Given the description of an element on the screen output the (x, y) to click on. 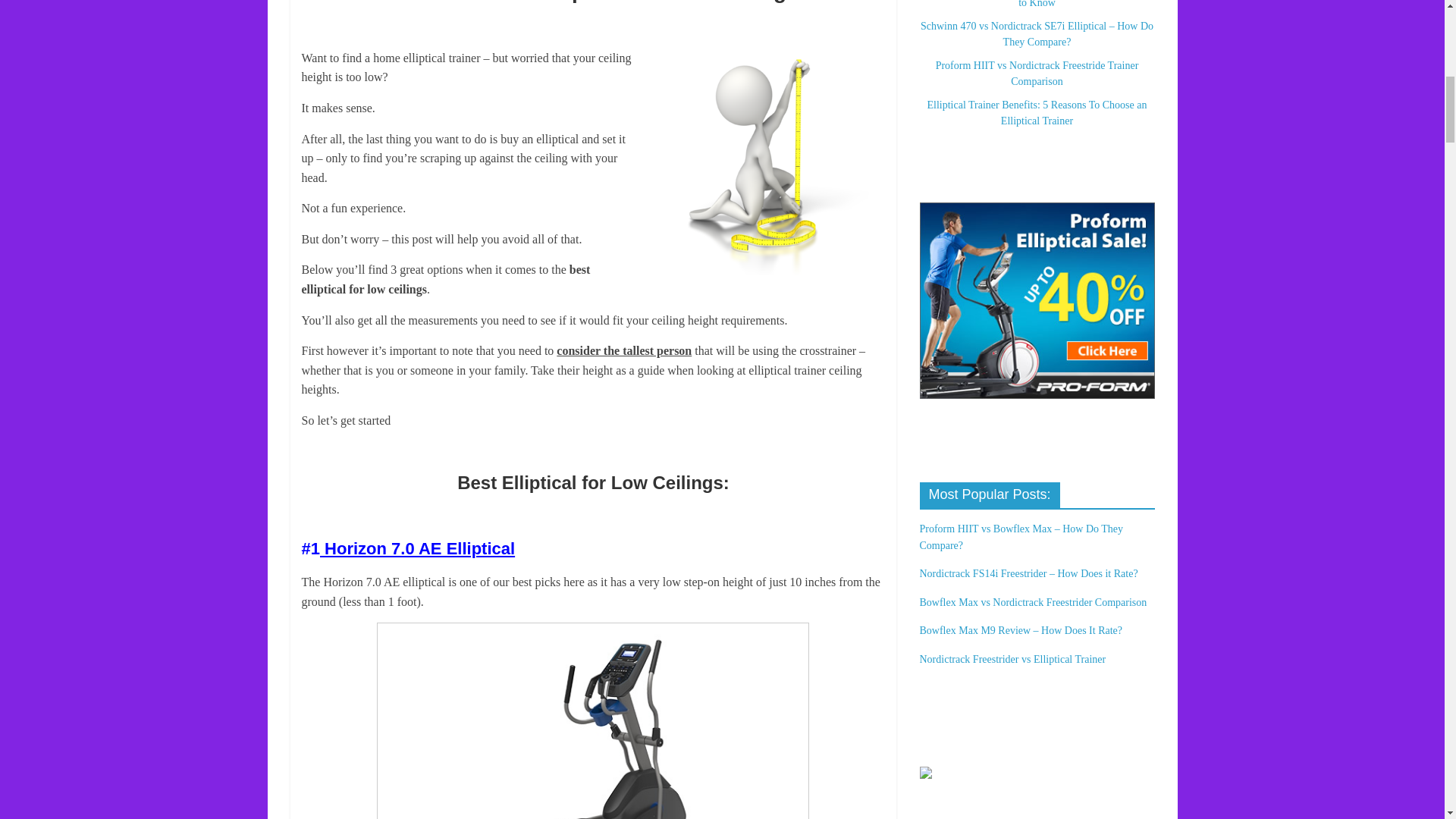
Horizon 7.0 AE Elliptical (417, 547)
